Given the description of an element on the screen output the (x, y) to click on. 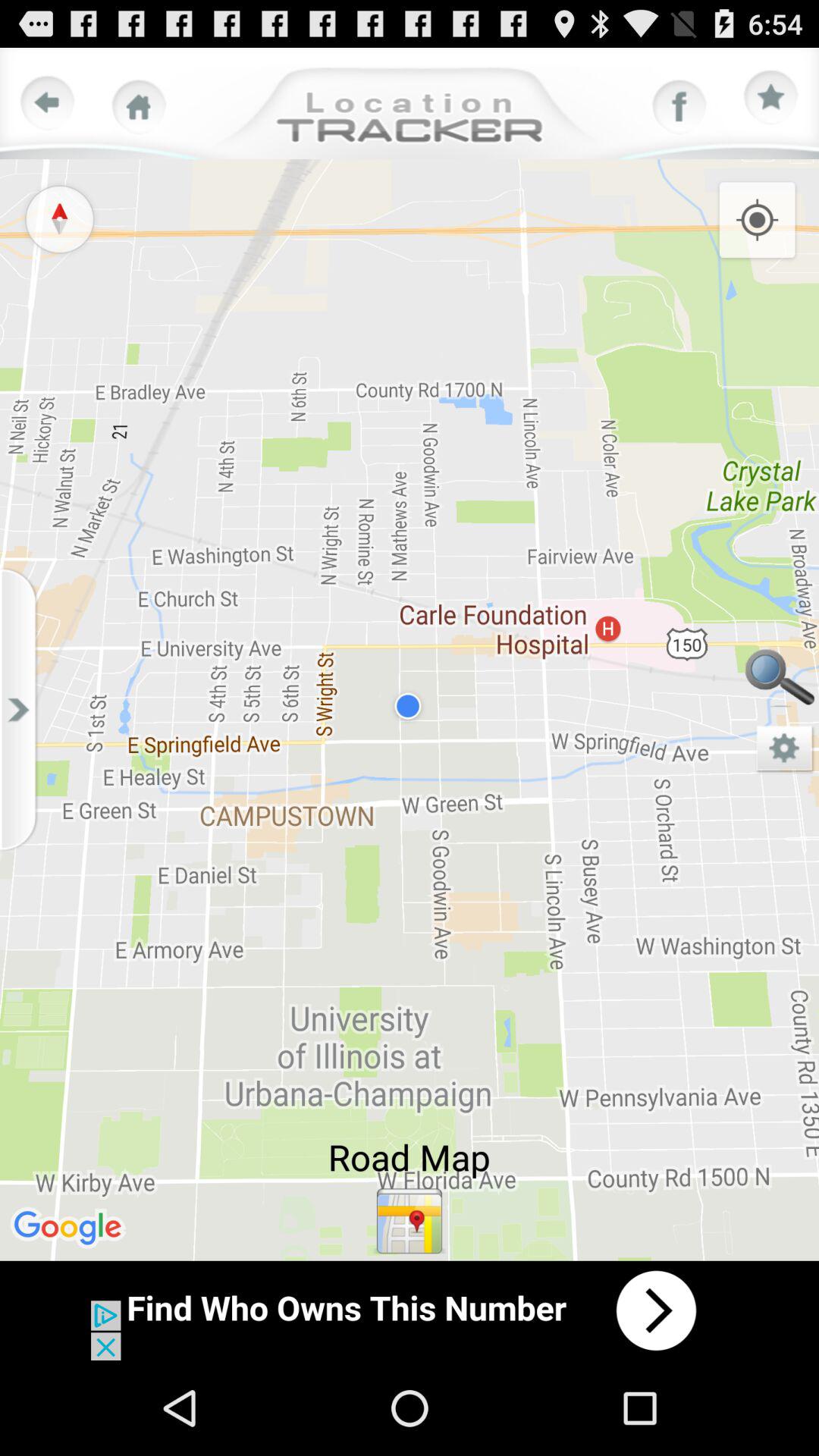
bookmark (771, 97)
